Given the description of an element on the screen output the (x, y) to click on. 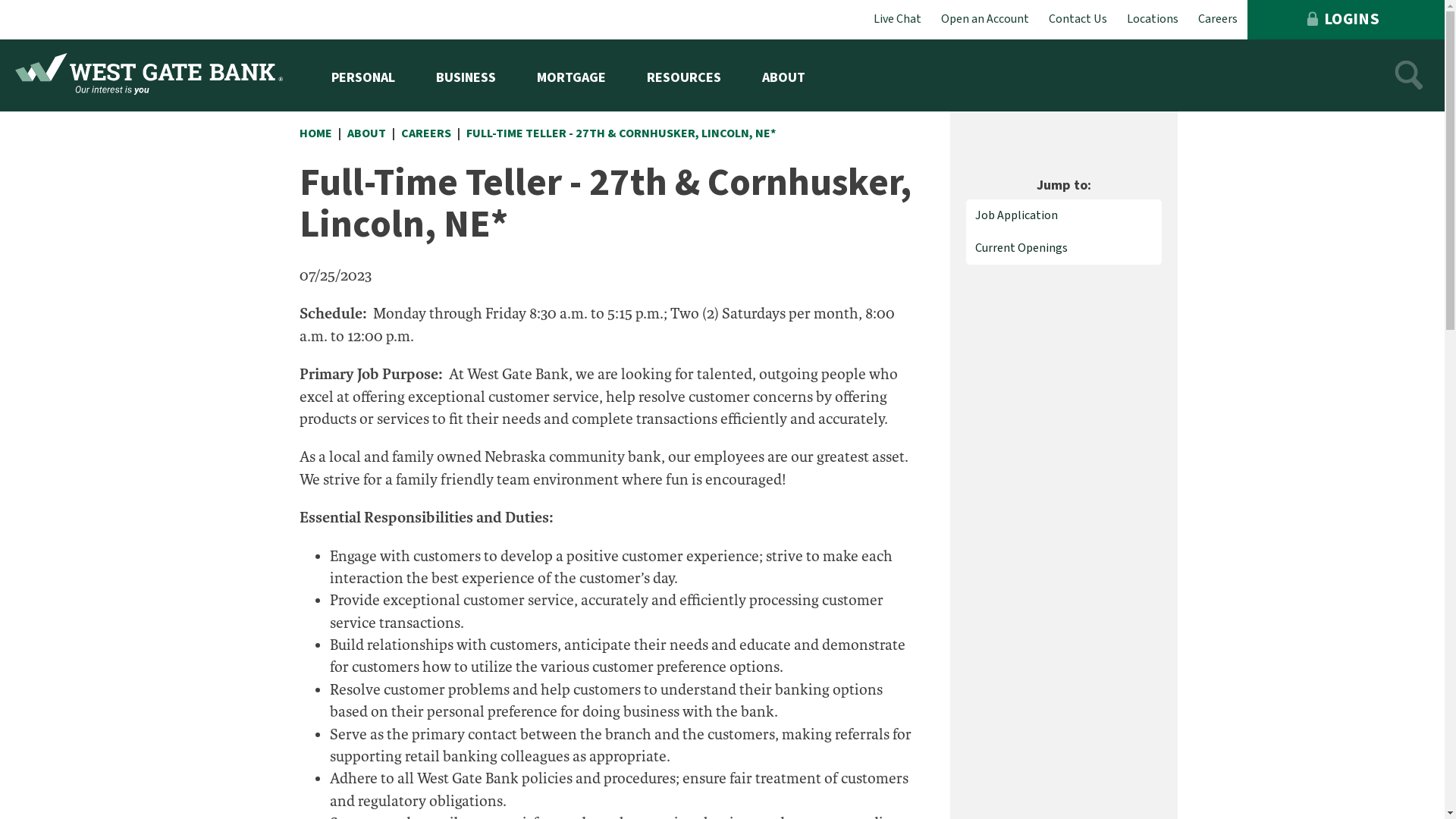
Job Application Element type: text (1063, 214)
Current Openings Element type: text (1063, 248)
HOME Element type: text (319, 133)
PERSONAL Element type: text (362, 75)
MORTGAGE Element type: text (571, 75)
ABOUT Element type: text (783, 75)
Contact Us Element type: text (1077, 19)
CAREERS Element type: text (429, 133)
RESOURCES Element type: text (683, 75)
Careers Element type: text (1217, 19)
ABOUT Element type: text (371, 133)
Live Chat Element type: text (897, 19)
LOGINS Element type: text (1345, 19)
BUSINESS Element type: text (465, 75)
Locations Element type: text (1152, 19)
Open an Account Element type: text (984, 19)
